Given the description of an element on the screen output the (x, y) to click on. 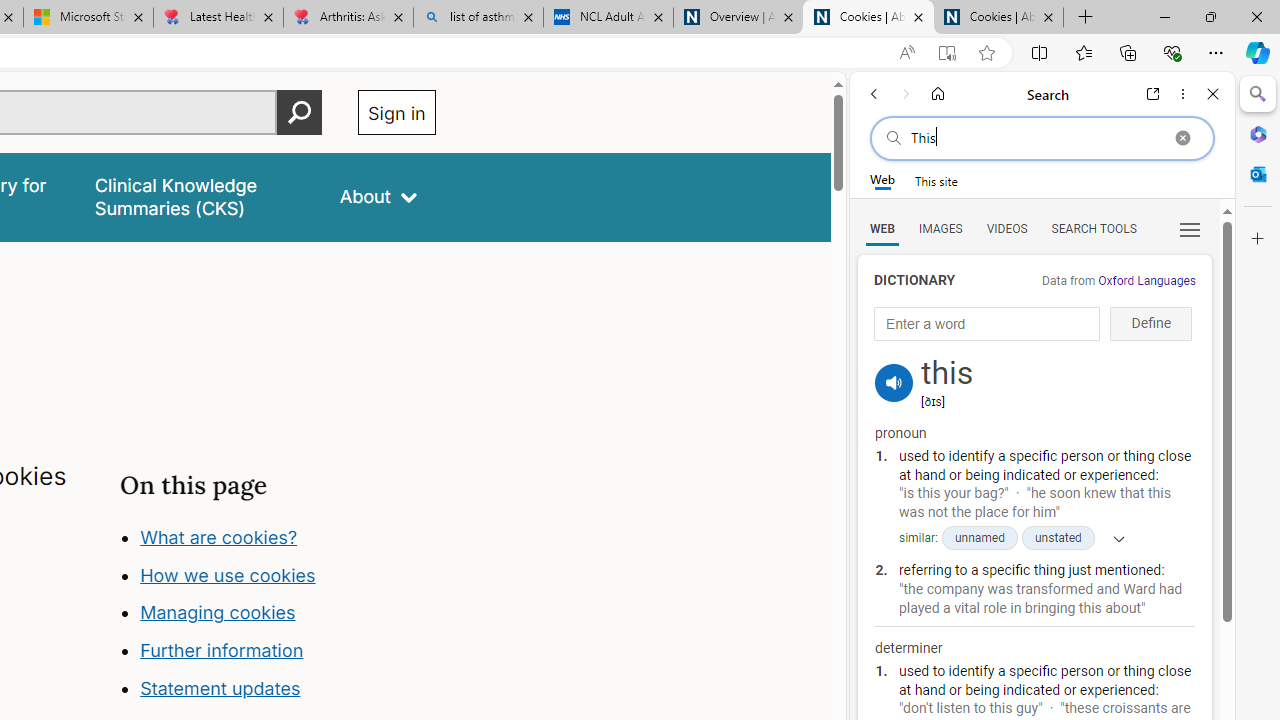
Class: in-page-nav__list (277, 615)
Oxford Languages (1146, 281)
Managing cookies (217, 612)
